Given the description of an element on the screen output the (x, y) to click on. 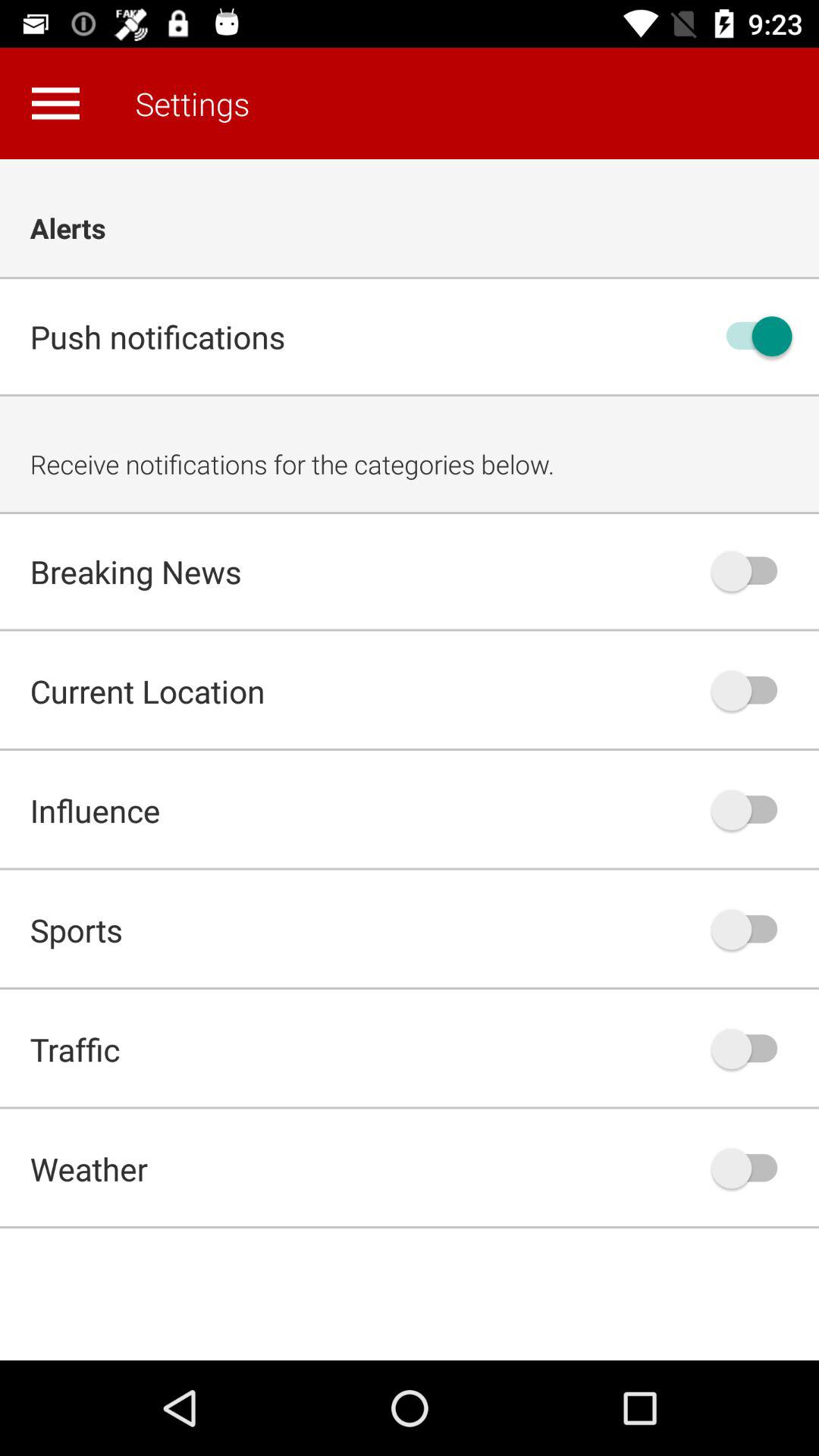
toggles on the weather alert (751, 1168)
